Given the description of an element on the screen output the (x, y) to click on. 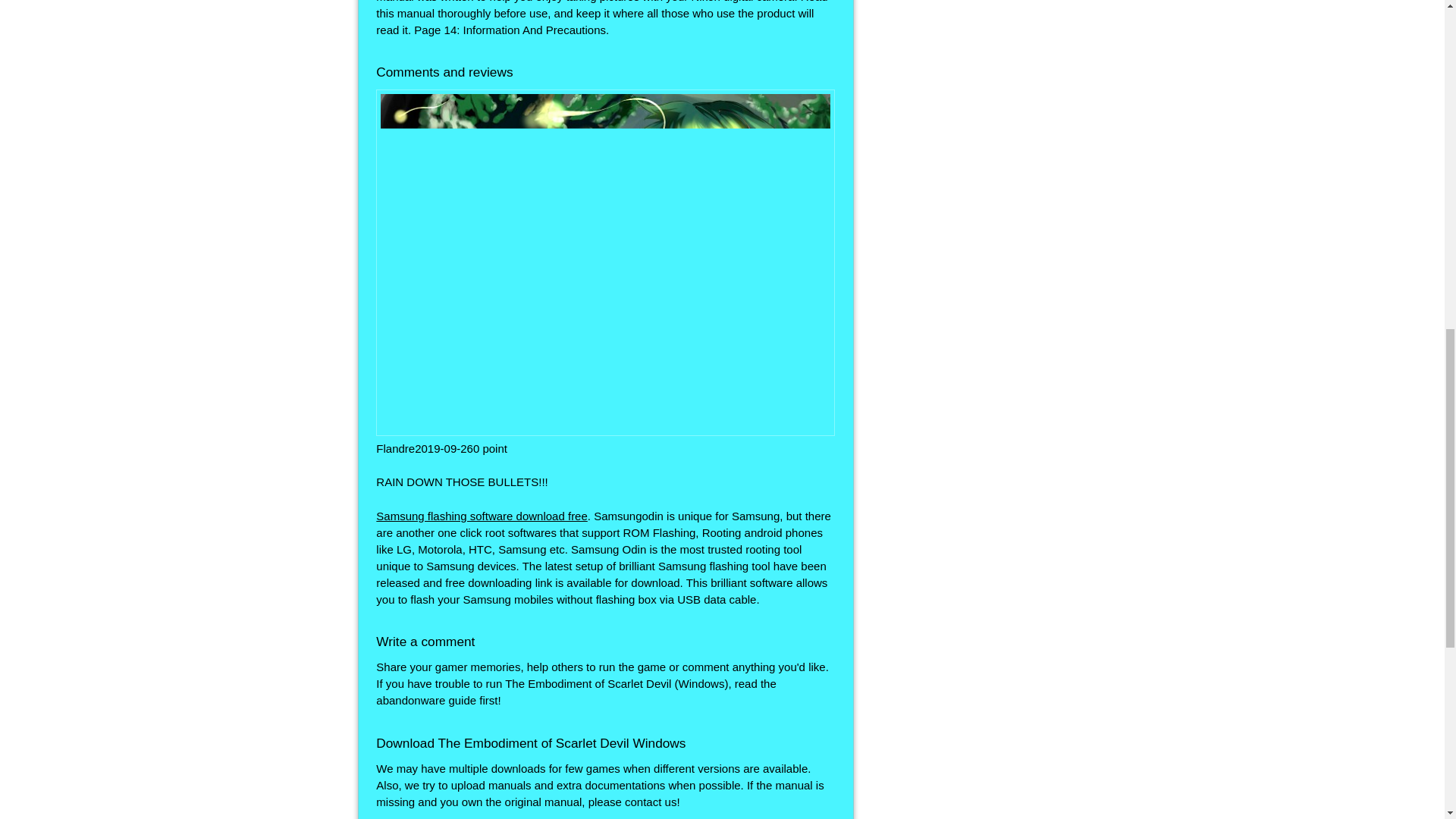
Samsung flashing software download free (481, 515)
Samsung flashing software download free (481, 515)
